Given the description of an element on the screen output the (x, y) to click on. 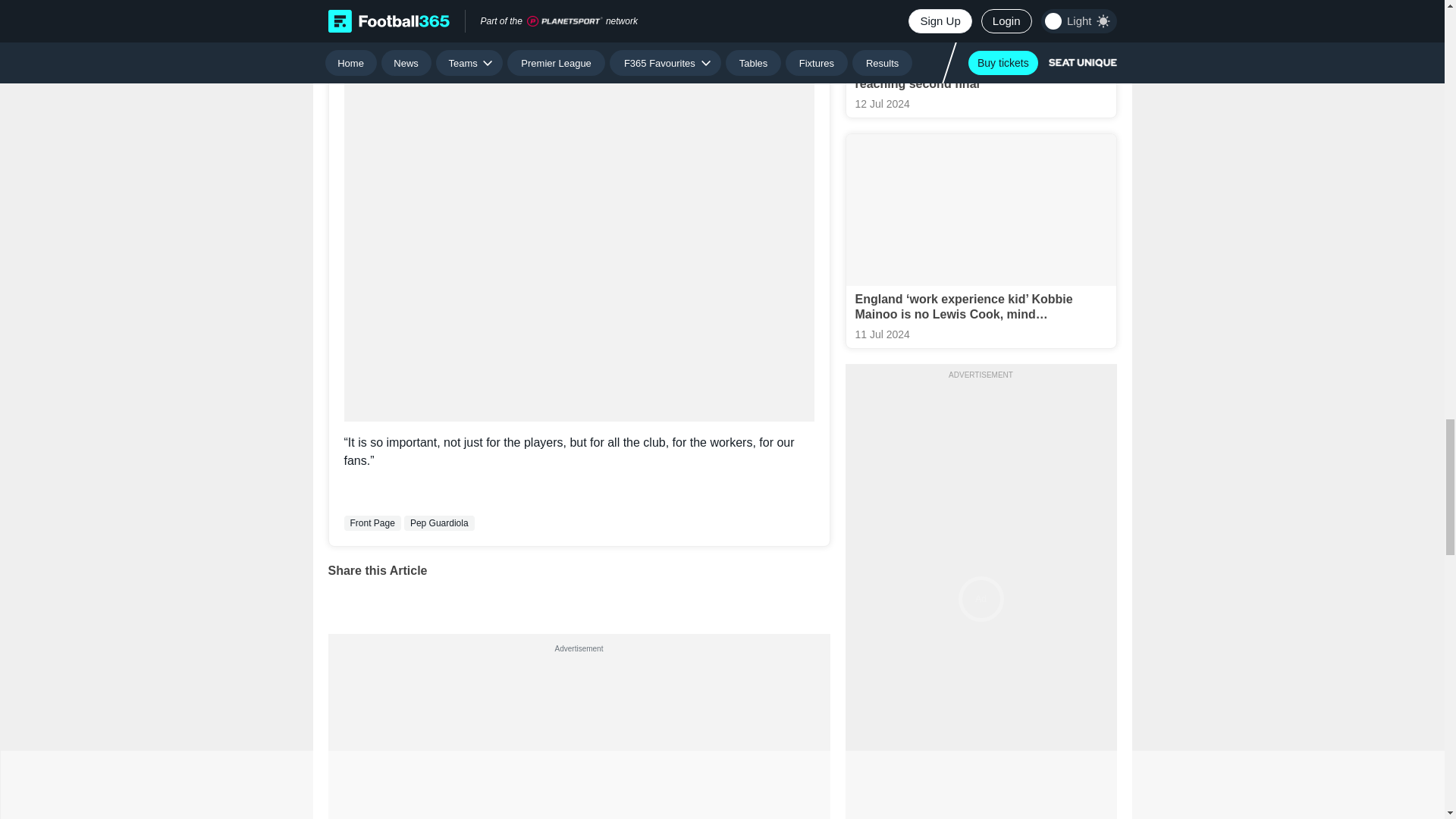
3rd party ad content (578, 738)
Vuukle Sharebar Widget (578, 596)
3rd party ad content (579, 69)
